Given the description of an element on the screen output the (x, y) to click on. 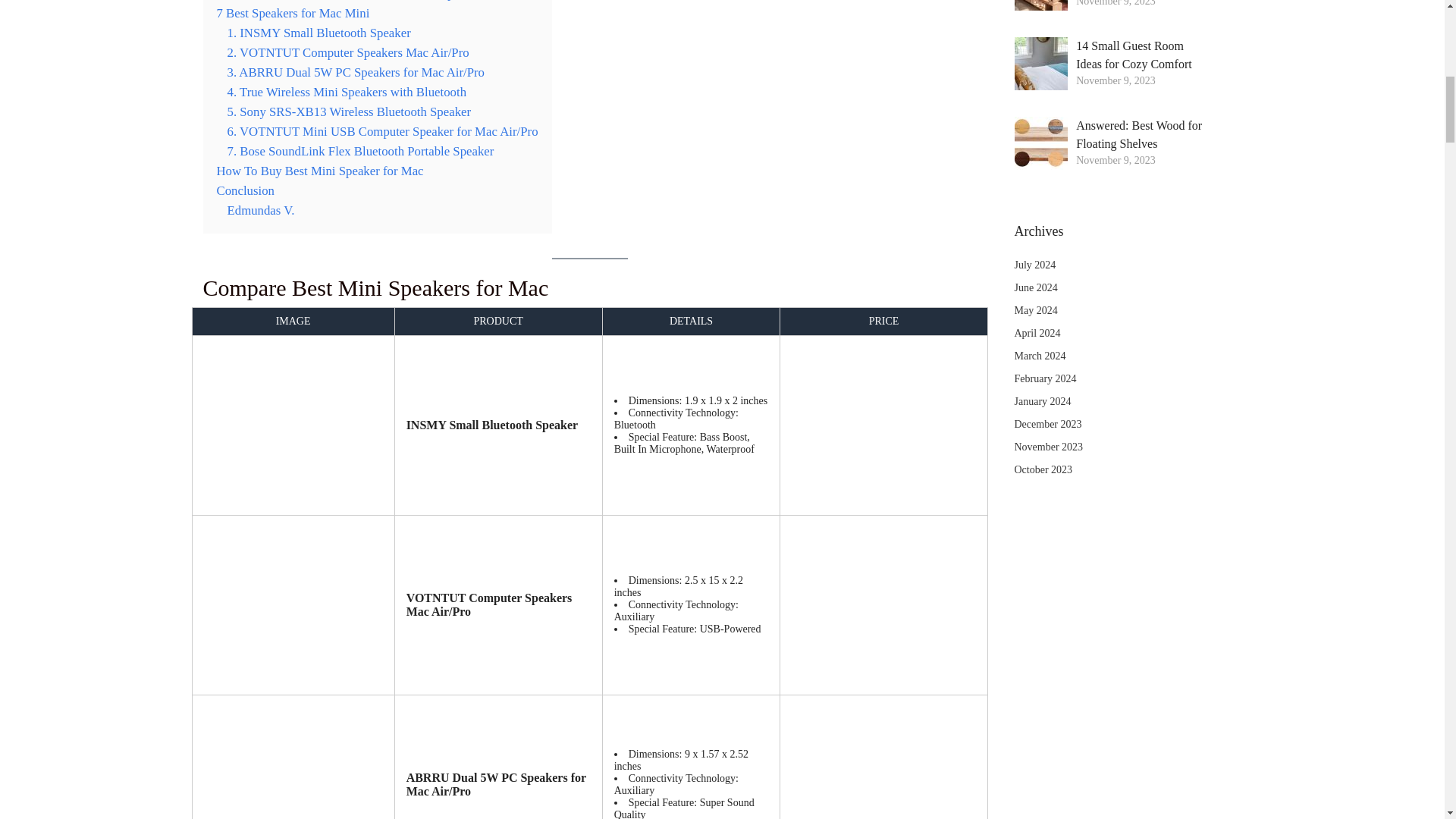
1. INSMY Small Bluetooth Speaker (318, 32)
7 Best Speakers for Mac Mini (292, 12)
